Given the description of an element on the screen output the (x, y) to click on. 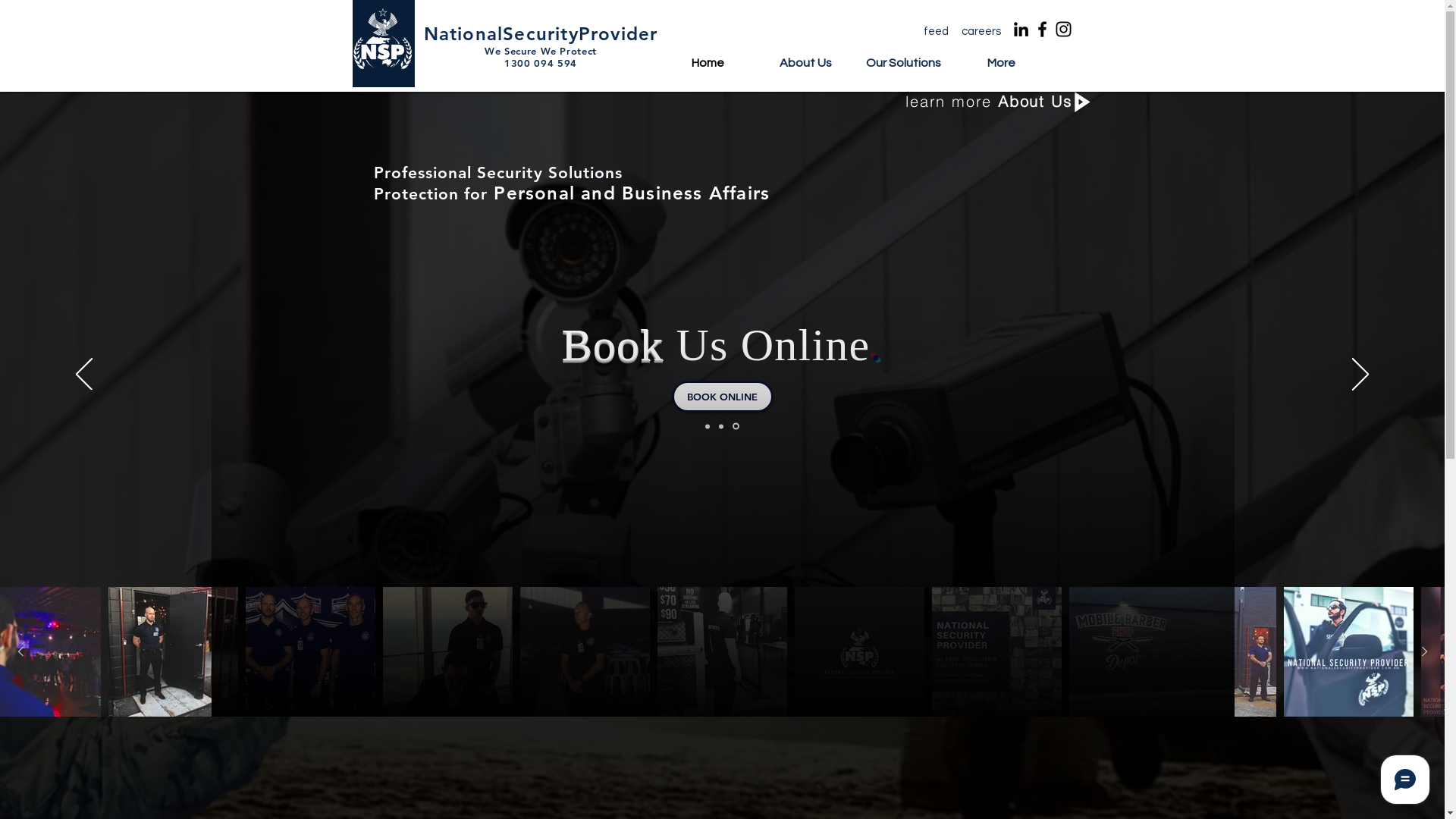
About Us Element type: text (805, 68)
Home Element type: text (707, 68)
Our Solutions Element type: text (903, 68)
careers Element type: text (980, 30)
BOOK ONLINE Element type: text (721, 396)
feed Element type: text (935, 30)
